Given the description of an element on the screen output the (x, y) to click on. 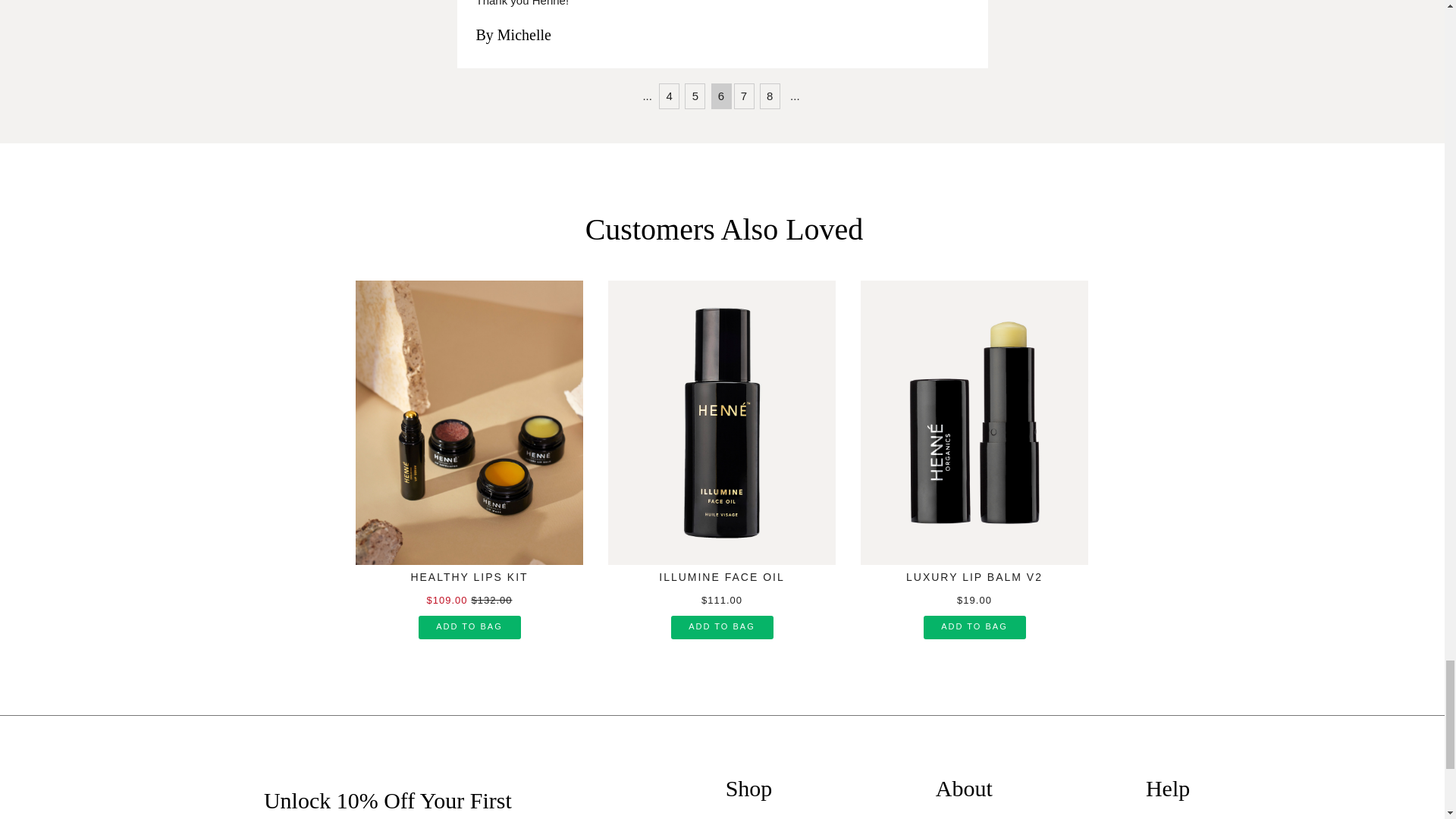
HEALTHY LIPS KIT (468, 569)
LUXURY LIP BALM V2 (973, 569)
ADD TO BAG (470, 626)
ILLUMINE FACE OIL (721, 569)
ADD TO BAG (721, 626)
